Given the description of an element on the screen output the (x, y) to click on. 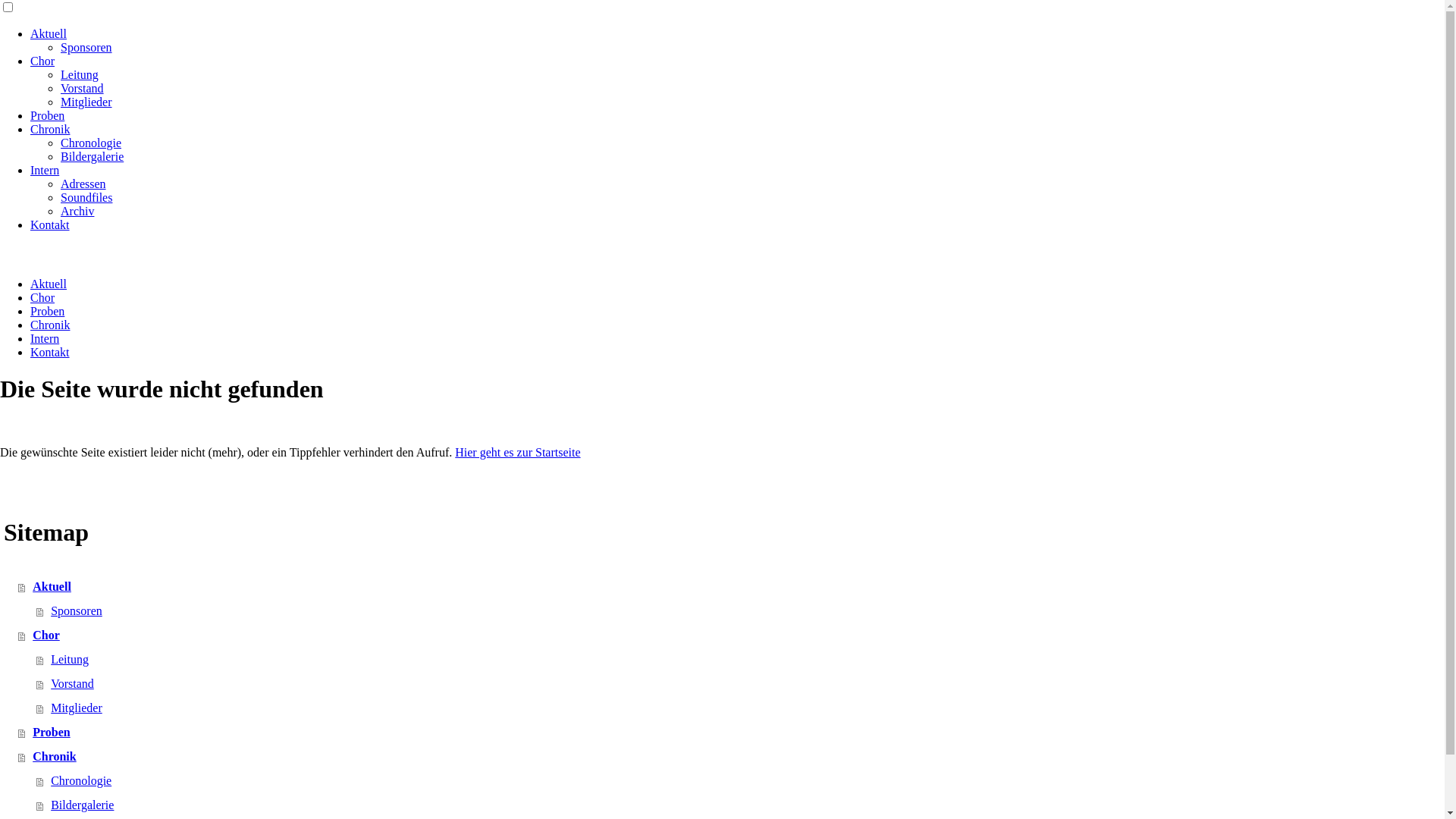
Bildergalerie Element type: text (91, 156)
Sponsoren Element type: text (740, 611)
Proben Element type: text (47, 310)
Archiv Element type: text (77, 210)
Chor Element type: text (42, 297)
Chronik Element type: text (731, 756)
Soundfiles Element type: text (86, 197)
Leitung Element type: text (740, 659)
Intern Element type: text (44, 169)
Aktuell Element type: text (48, 33)
Aktuell Element type: text (731, 586)
Mitglieder Element type: text (740, 708)
Proben Element type: text (47, 115)
Mitglieder Element type: text (86, 101)
Chronik Element type: text (49, 128)
Chronologie Element type: text (740, 780)
Bildergalerie Element type: text (740, 805)
Vorstand Element type: text (81, 87)
Aktuell Element type: text (48, 283)
Leitung Element type: text (79, 74)
Adressen Element type: text (83, 183)
Chor Element type: text (731, 635)
Kontakt Element type: text (49, 351)
Sponsoren Element type: text (86, 46)
Hier geht es zur Startseite Element type: text (517, 451)
Vorstand Element type: text (740, 683)
Chor Element type: text (42, 60)
Proben Element type: text (731, 732)
Intern Element type: text (44, 338)
Chronik Element type: text (49, 324)
Chronologie Element type: text (90, 142)
Kontakt Element type: text (49, 224)
